Given the description of an element on the screen output the (x, y) to click on. 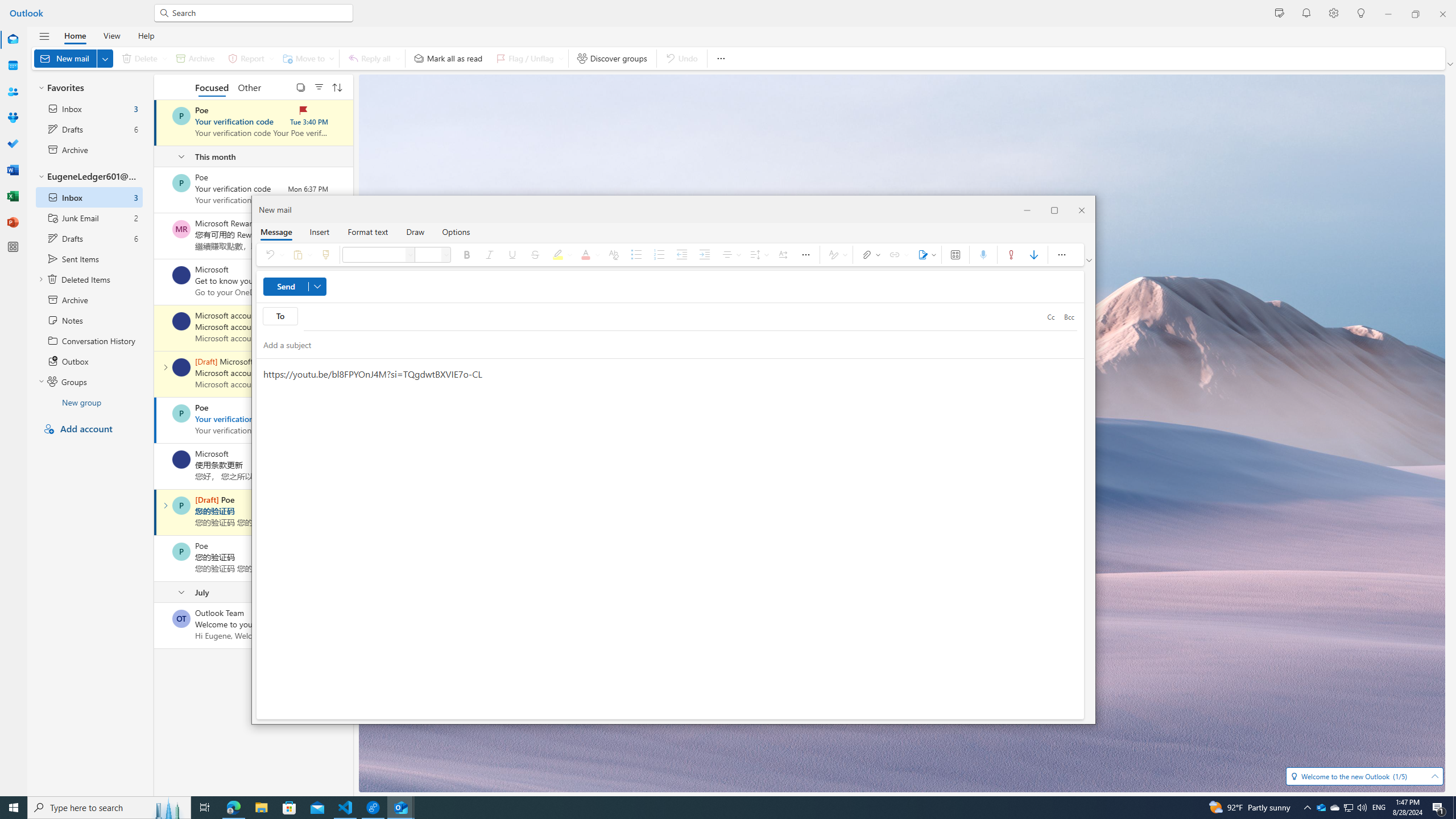
More send options (317, 286)
Microsoft (180, 459)
Align (730, 254)
Microsoft Edge - 1 running window (233, 807)
Mark all as read (448, 58)
